Given the description of an element on the screen output the (x, y) to click on. 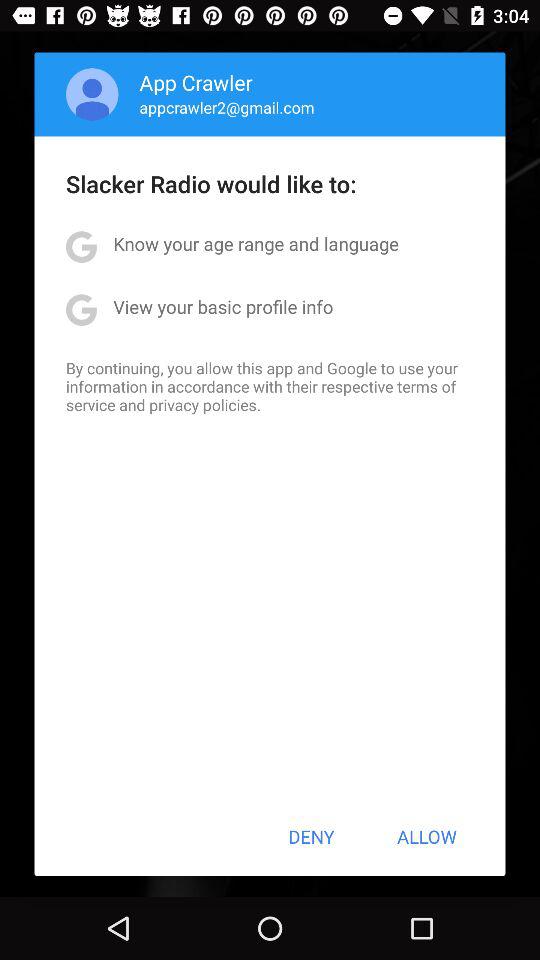
turn on icon above view your basic app (255, 243)
